Given the description of an element on the screen output the (x, y) to click on. 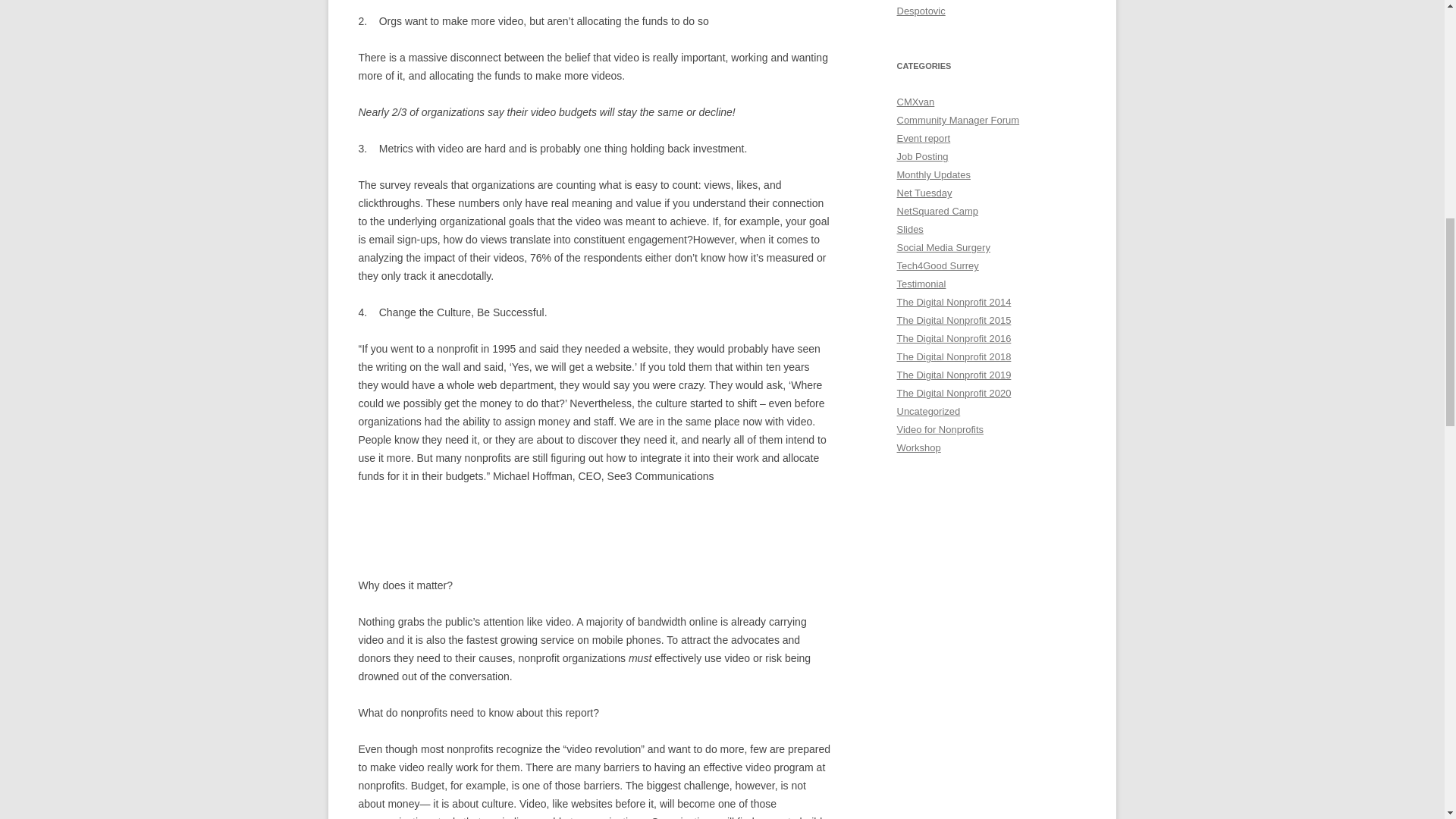
Event report (923, 138)
Net Tuesday (924, 193)
Community Manager Forum (957, 120)
Job Posting (921, 156)
CMXvan (915, 101)
Monthly Updates (932, 174)
